Given the description of an element on the screen output the (x, y) to click on. 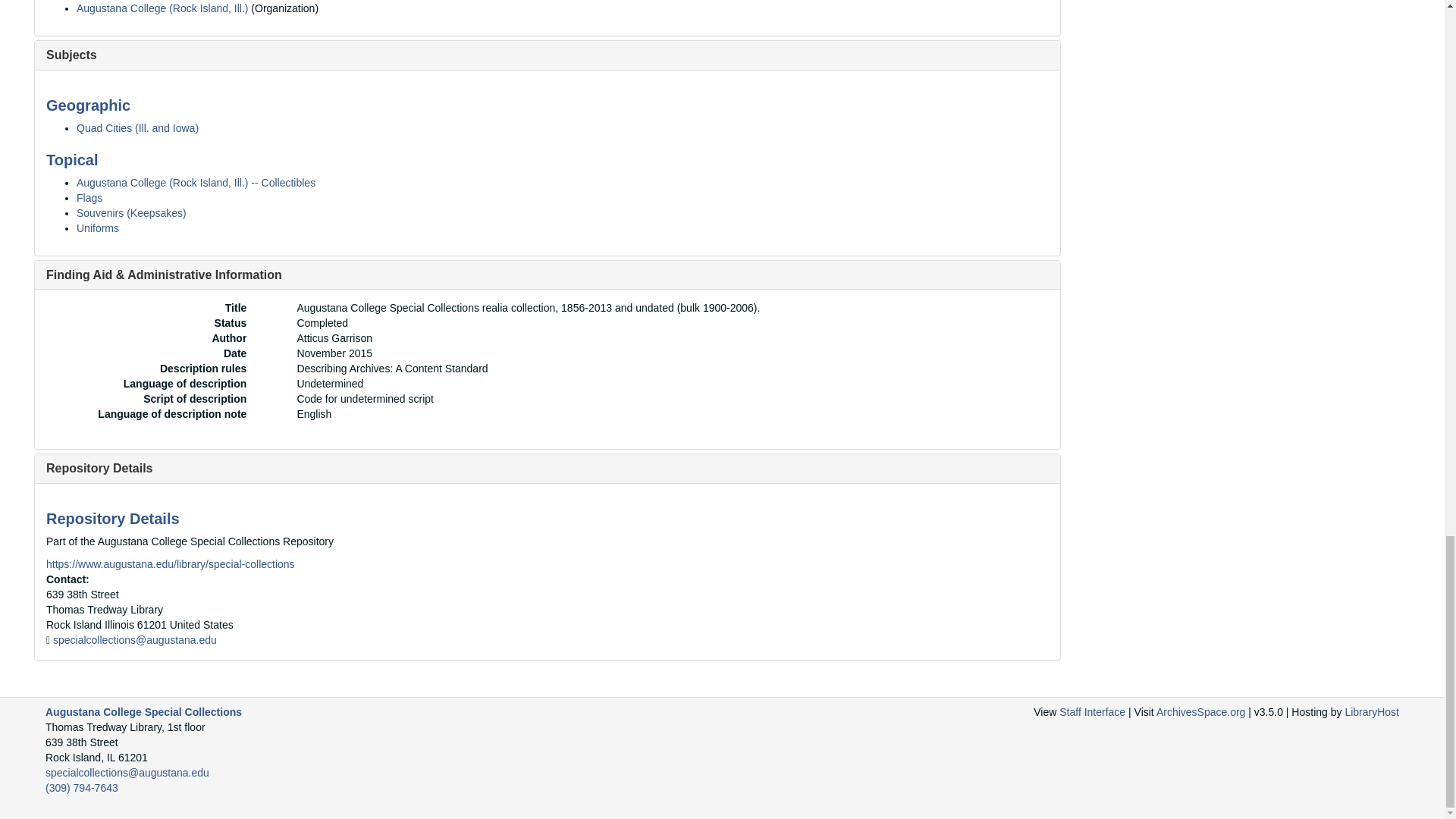
Send email (134, 639)
Subjects (71, 54)
Repository Details (99, 468)
Flags (89, 197)
Uniforms (98, 227)
